Given the description of an element on the screen output the (x, y) to click on. 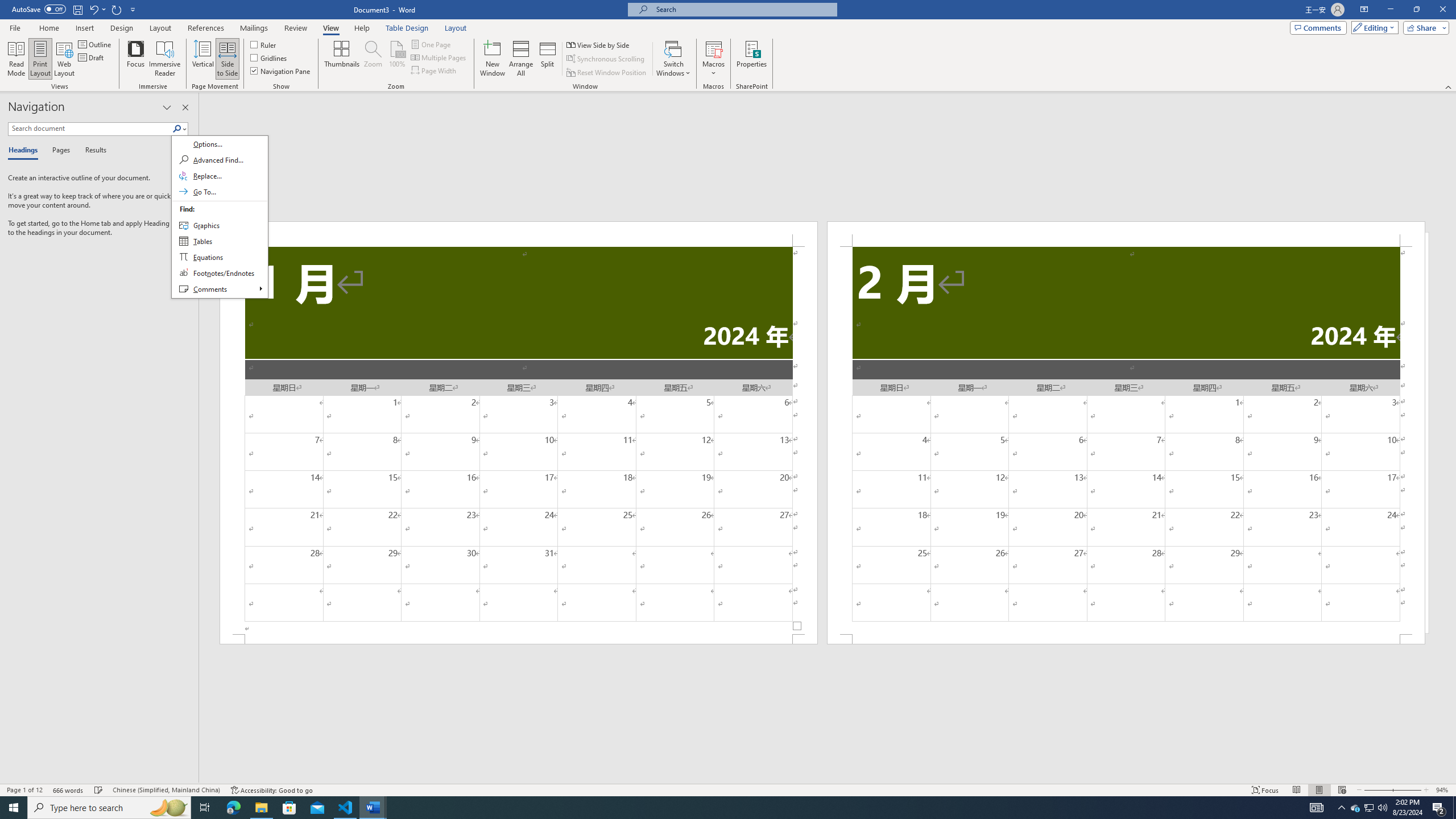
Focus (135, 58)
Start (13, 807)
Gridlines (269, 56)
Zoom In (1407, 790)
Language Chinese (Simplified, Mainland China) (165, 790)
Pages (59, 150)
Ruler (263, 44)
Print Layout (1318, 790)
Page Width (434, 69)
Search highlights icon opens search home window (1355, 807)
Page 2 content (167, 807)
Reset Window Position (1126, 439)
Search (1368, 807)
